Given the description of an element on the screen output the (x, y) to click on. 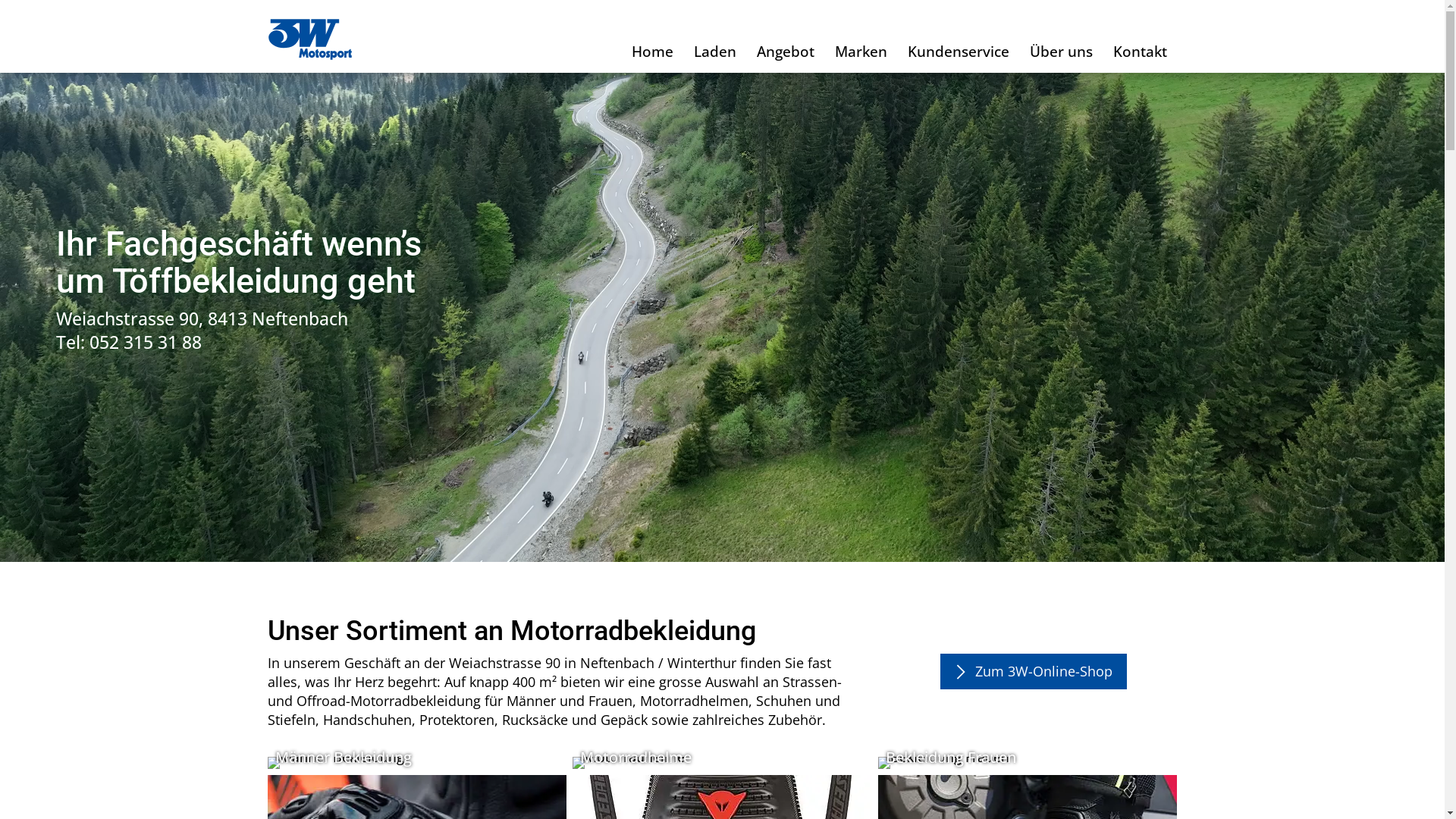
Zur Startseite Element type: hover (309, 39)
052 315 31 88 Element type: text (145, 341)
Marken Element type: text (861, 51)
Angebot Element type: text (785, 51)
Laden Element type: text (715, 51)
Motorradhelme Element type: hover (722, 762)
Bekleidung Frauen Element type: hover (1027, 762)
Bekleidung Frauen Element type: text (1027, 762)
Zum 3W-Online-Shop Element type: text (1033, 671)
Kontakt Element type: text (1139, 51)
Motorradhelme Element type: text (722, 762)
Kundenservice Element type: text (958, 51)
Home Element type: text (652, 51)
